Given the description of an element on the screen output the (x, y) to click on. 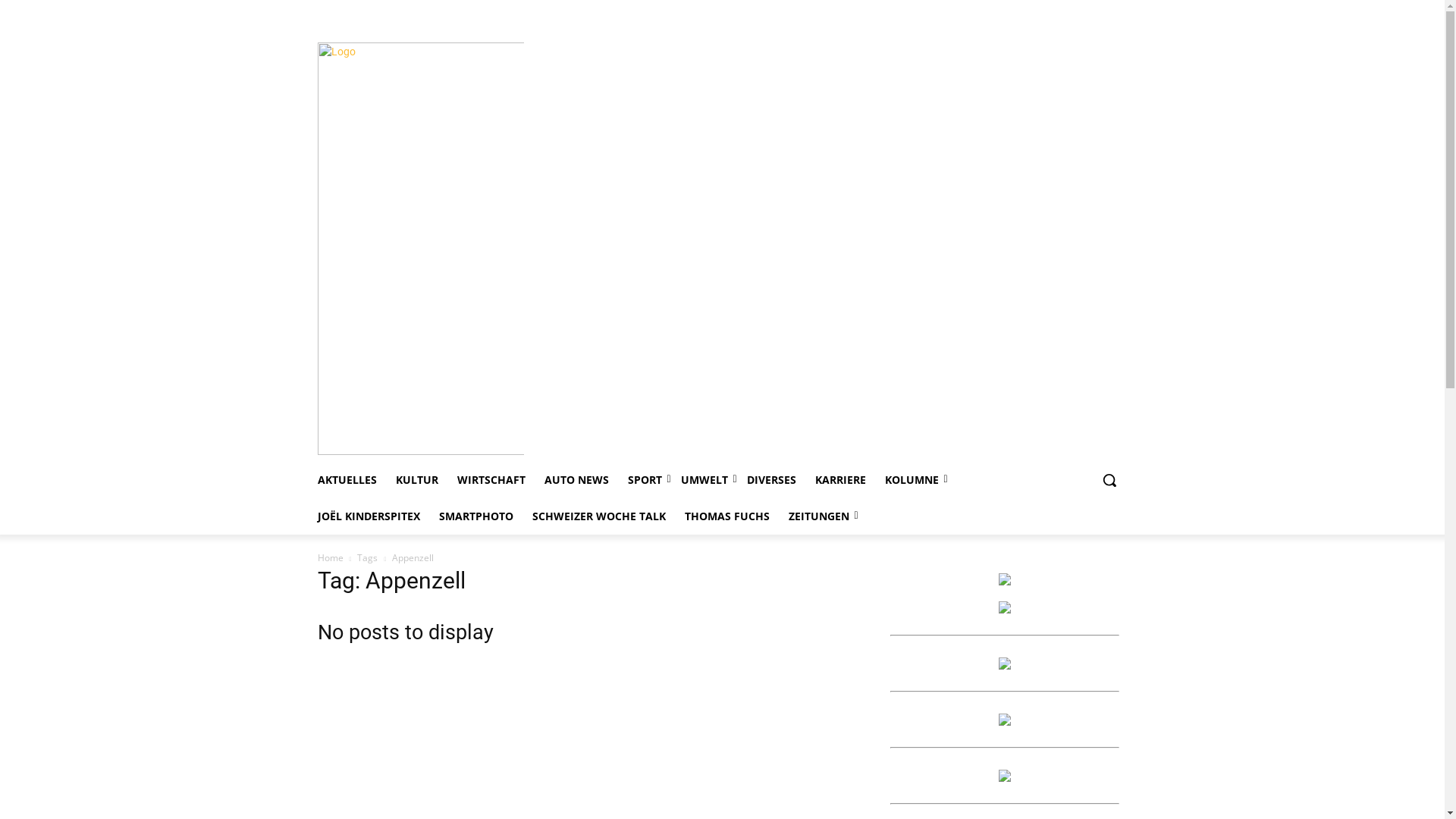
ZEITUNGEN Element type: text (818, 516)
DIVERSES Element type: text (770, 479)
AUTO NEWS Element type: text (576, 479)
THOMAS FUCHS Element type: text (726, 516)
SMARTPHOTO Element type: text (475, 516)
KULTUR Element type: text (416, 479)
SPORT Element type: text (644, 479)
WIRTSCHAFT Element type: text (490, 479)
Jetzt Petition unterschreiben Element type: hover (1003, 609)
KARRIERE Element type: text (839, 479)
UMWELT Element type: text (704, 479)
E-Paper Element type: text (997, 10)
HGR Henri Grandjean AG Element type: hover (1003, 665)
Tarife Element type: text (1041, 10)
HGR Henri Grandjean AG Element type: hover (1003, 777)
Leitbild Element type: text (1112, 10)
Lernwerkstatt Element type: hover (1003, 721)
Impressum Element type: text (948, 10)
KOLUMNE Element type: text (911, 479)
Home Element type: text (329, 557)
AGB Element type: text (1077, 10)
AKTUELLES Element type: text (346, 479)
SCHWEIZER WOCHE TALK Element type: text (598, 516)
